Given the description of an element on the screen output the (x, y) to click on. 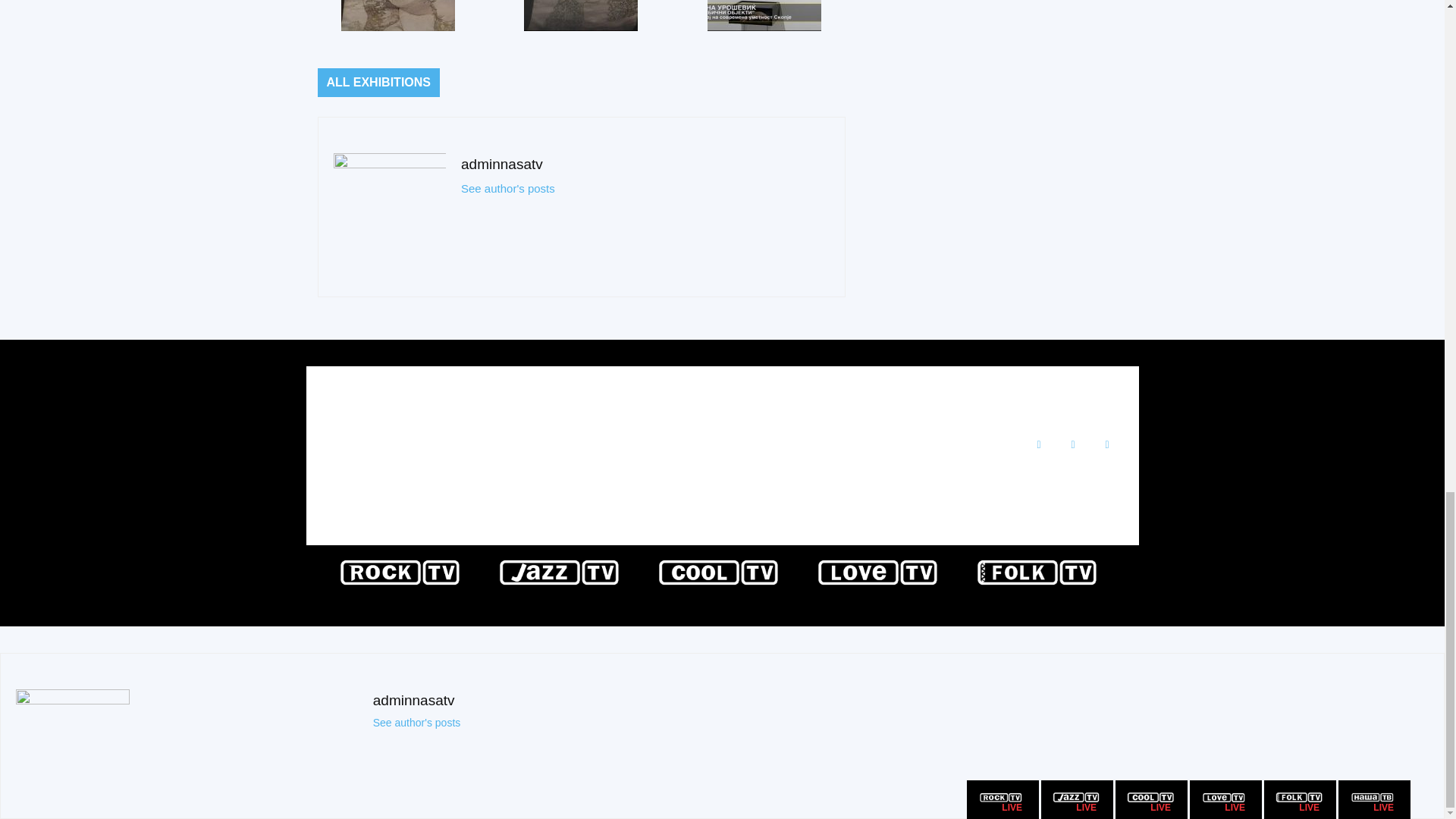
Facebook (1038, 444)
Instagram (1072, 444)
Youtube (1106, 444)
